Given the description of an element on the screen output the (x, y) to click on. 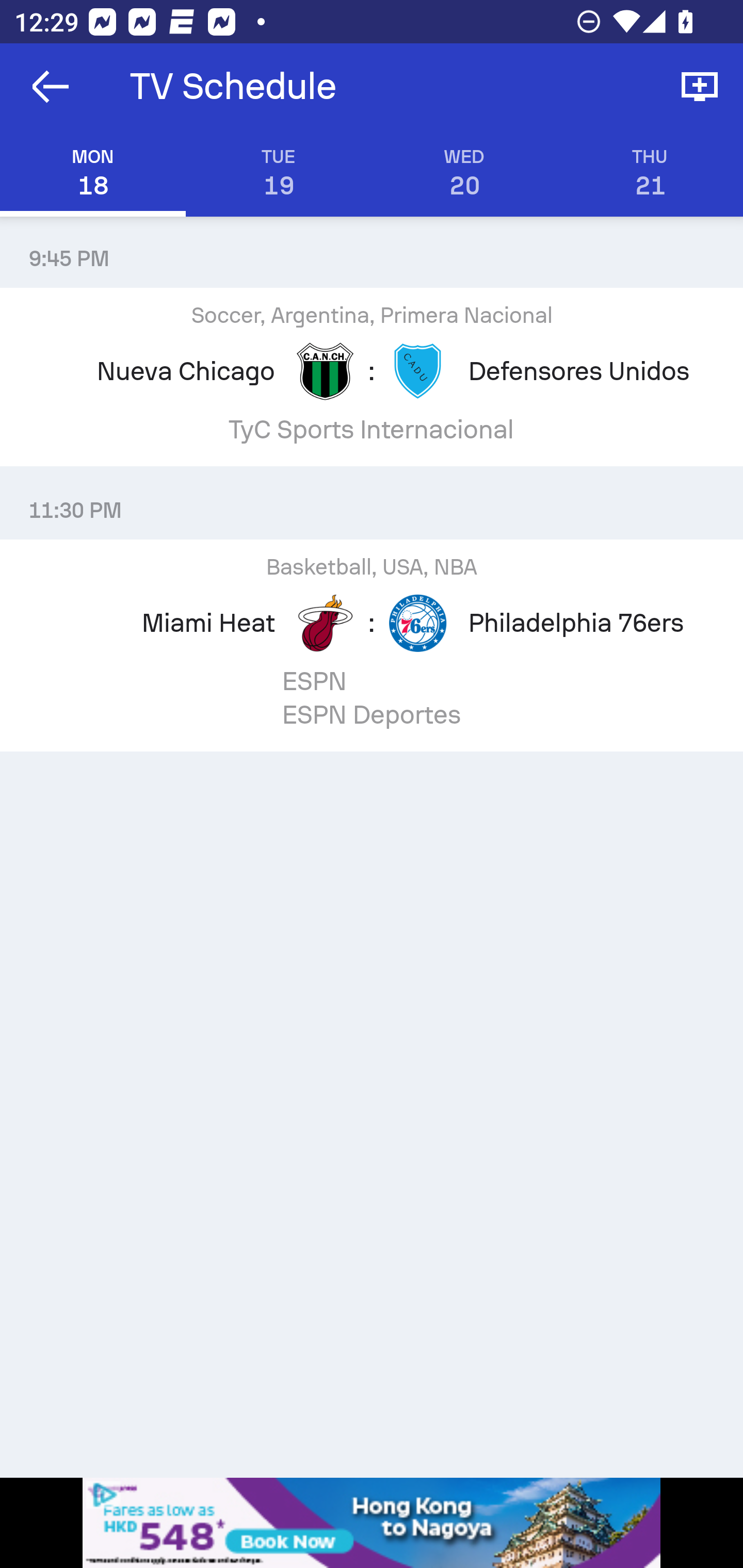
Navigate up (50, 86)
Edit channels (699, 86)
TUE 19 (278, 173)
WED 20 (464, 173)
THU 21 (650, 173)
9:45 PM (371, 250)
11:30 PM (371, 502)
wi46309w_320x50 (371, 1522)
